Given the description of an element on the screen output the (x, y) to click on. 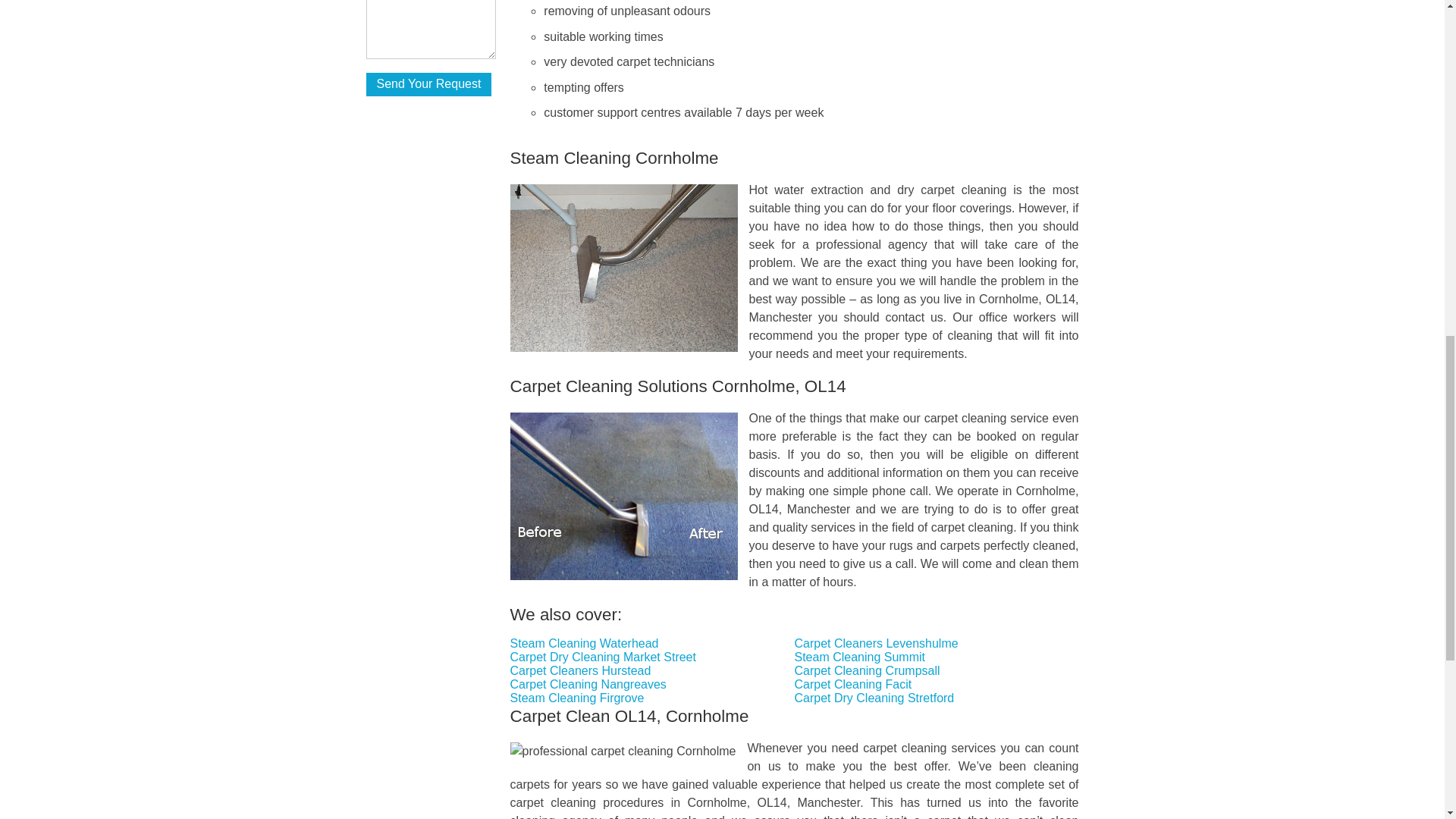
Carpet Cleaning Nangreaves (588, 684)
M19 Carpet Cleaners Levenshulme (876, 643)
BL9 Carpet Cleaning Nangreaves (588, 684)
M1 Carpet Dry Cleaning Market Street (603, 656)
Carpet Dry Cleaning Stretford (874, 697)
Carpet Cleaners Hurstead (580, 670)
OL16 Steam Cleaning Firgrove (578, 697)
Send Your Request (428, 84)
Carpet Cleaning Crumpsall (867, 670)
Carpet Dry Cleaning Market Street (603, 656)
Carpet Cleaners Levenshulme (876, 643)
Carpet Cleaning Facit (853, 684)
OL4 Steam Cleaning Waterhead (585, 643)
Send Your Request (428, 84)
Steam Cleaning Summit (860, 656)
